Given the description of an element on the screen output the (x, y) to click on. 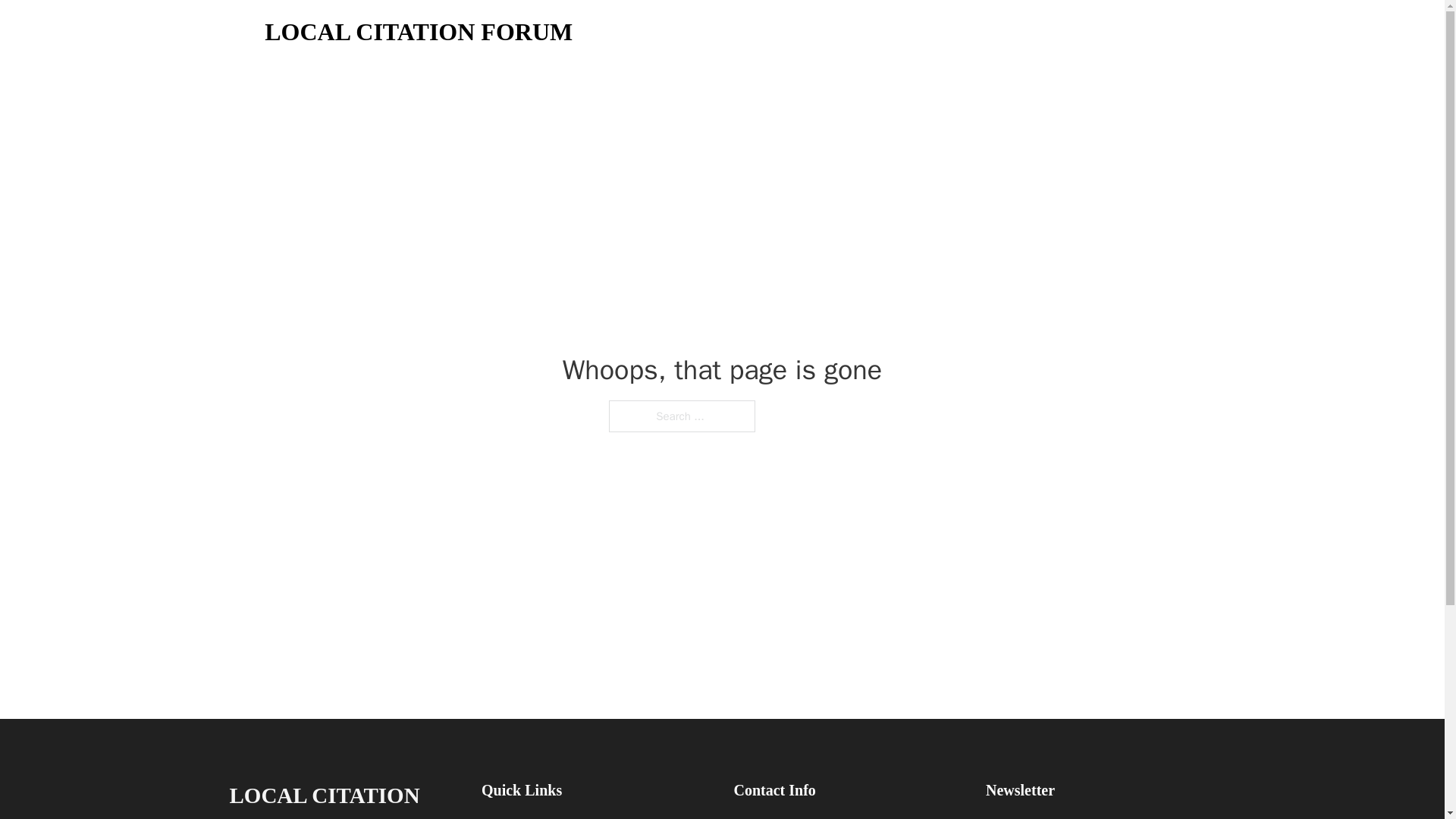
LOCAL CITATION FORUM (418, 31)
LOCAL CITATION FORUM (343, 798)
